Given the description of an element on the screen output the (x, y) to click on. 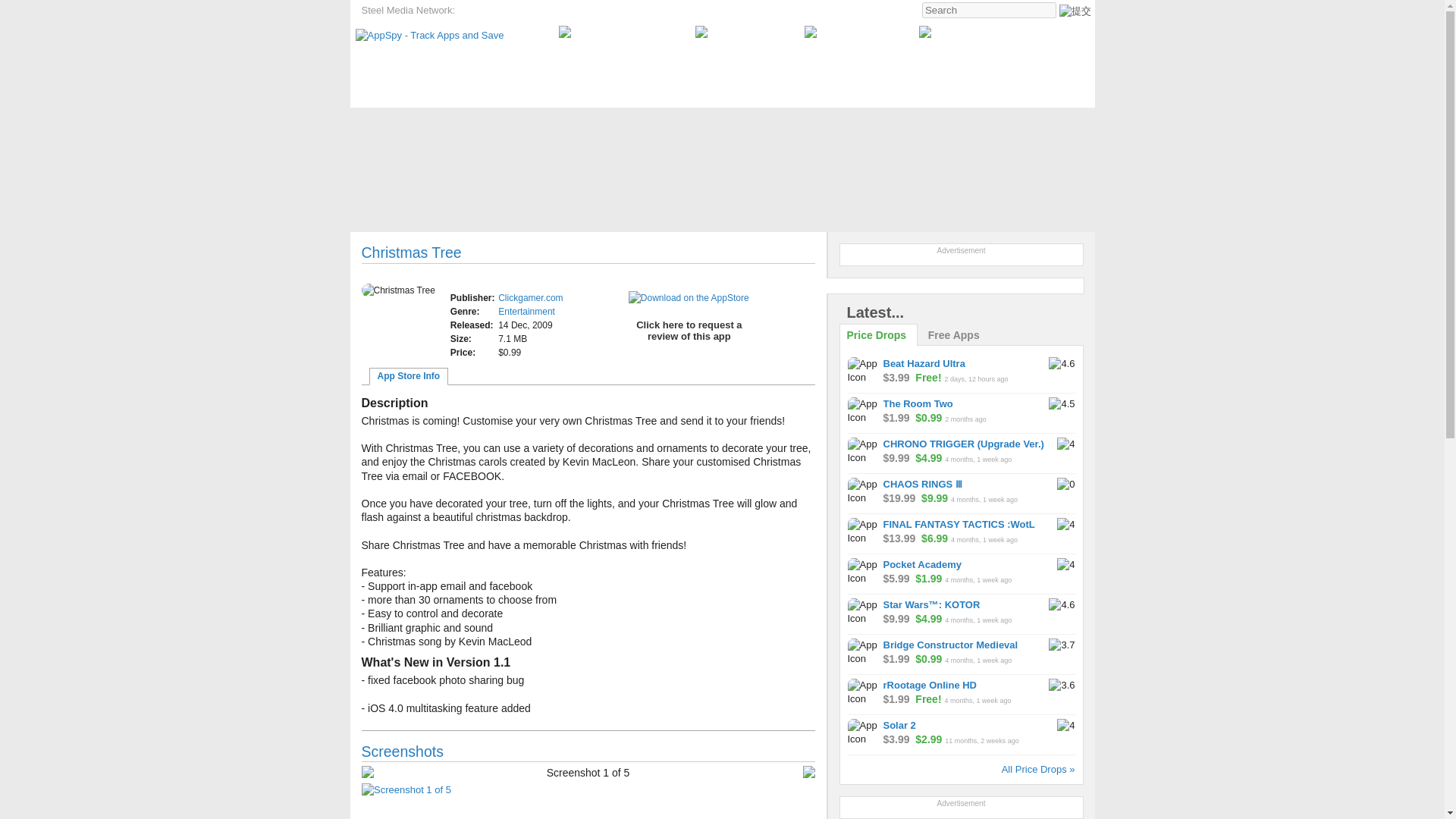
iPhone Qualityindex (613, 10)
Pocket Gamer (489, 10)
148Apps (544, 10)
Christmas Tree (397, 290)
Visit our YouTube channel (621, 32)
Available on the AppStore (688, 297)
News and Updates (698, 125)
Screenshot 1 of 5 (587, 789)
Apps On Sale (556, 125)
